Given the description of an element on the screen output the (x, y) to click on. 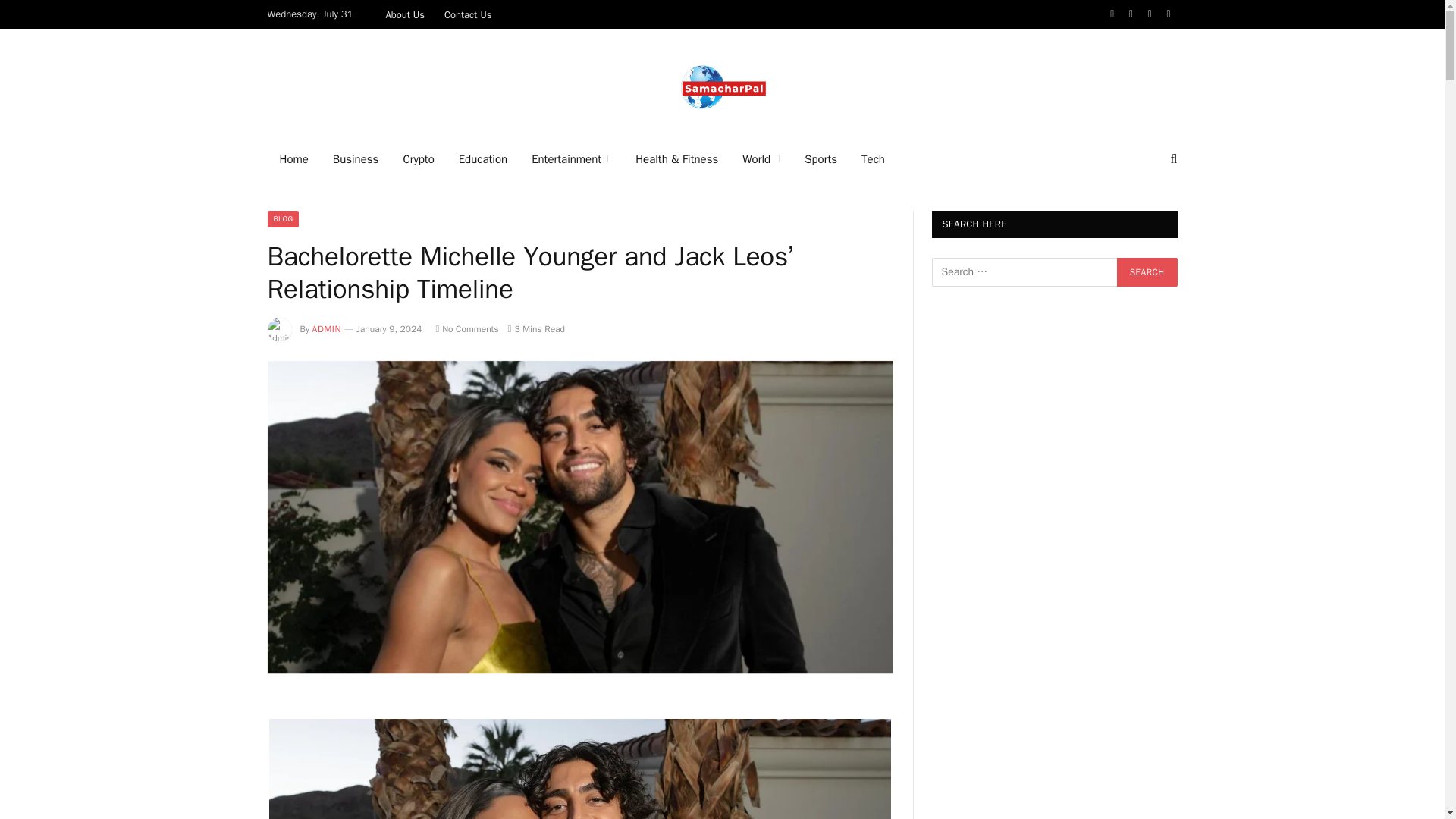
Search (1146, 271)
World (761, 159)
No Comments (466, 328)
Posts by Admin (326, 328)
Crypto (417, 159)
Entertainment (571, 159)
Home (293, 159)
Education (482, 159)
Contact Us (467, 14)
Search (1146, 271)
BLOG (282, 218)
Sports (820, 159)
Business (355, 159)
About Us (404, 14)
ADMIN (326, 328)
